Given the description of an element on the screen output the (x, y) to click on. 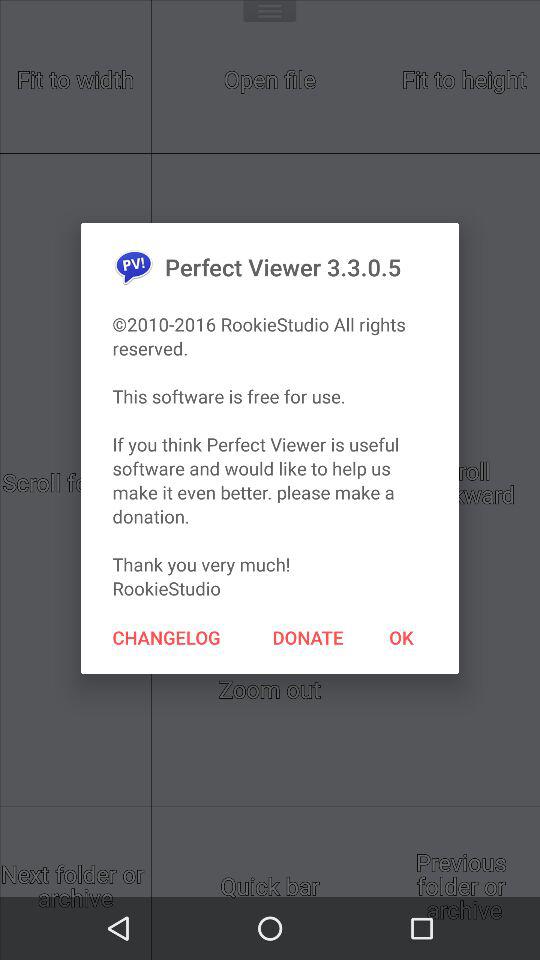
open icon next to the ok item (307, 637)
